Given the description of an element on the screen output the (x, y) to click on. 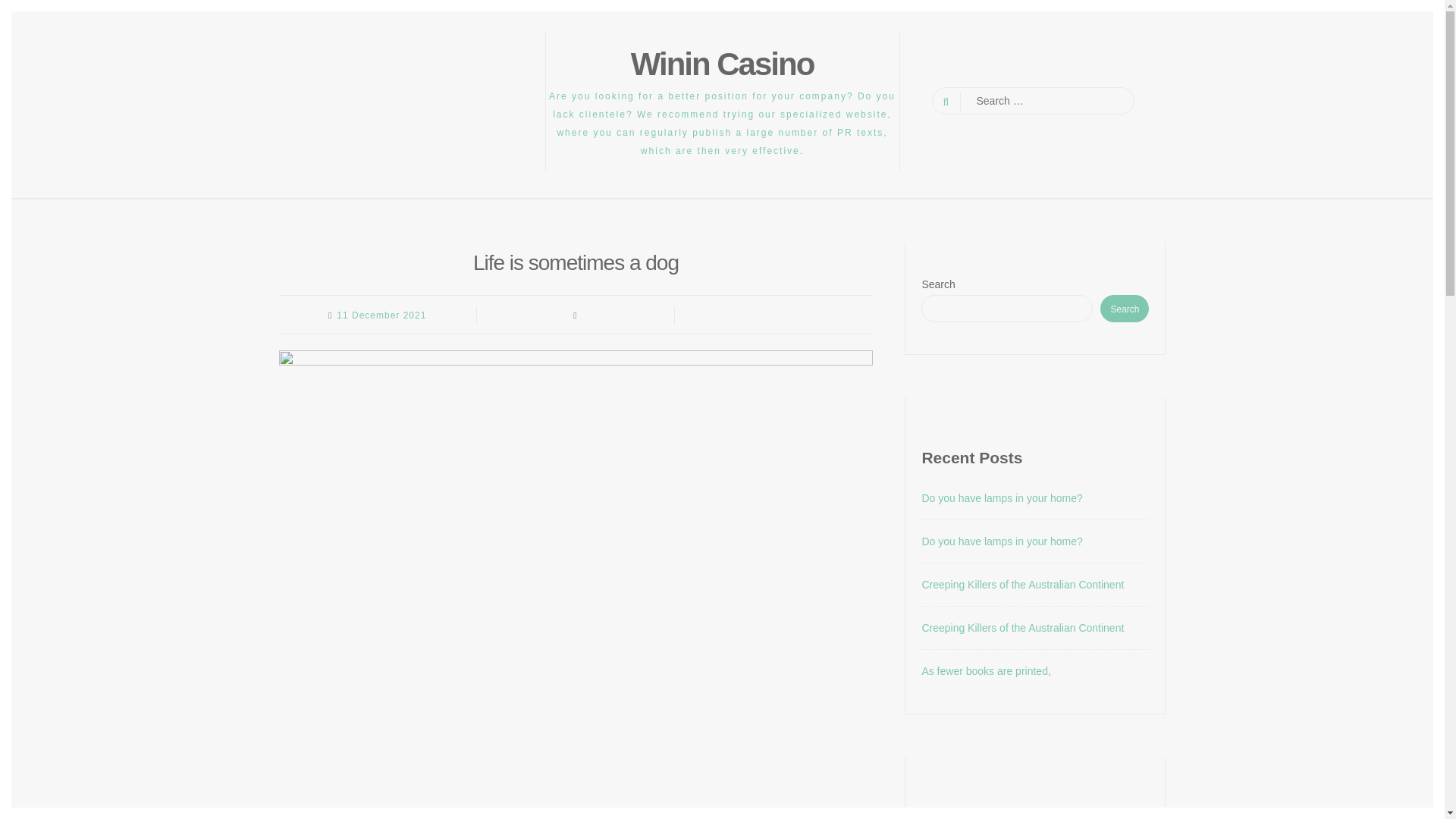
As fewer books are printed, (985, 671)
Search (1124, 308)
Do you have lamps in your home? (1001, 541)
Winin Casino (721, 63)
11 December 2021 (381, 315)
Do you have lamps in your home? (1001, 498)
Search (24, 9)
Creeping Killers of the Australian Continent (1022, 584)
Creeping Killers of the Australian Continent (1022, 627)
